Given the description of an element on the screen output the (x, y) to click on. 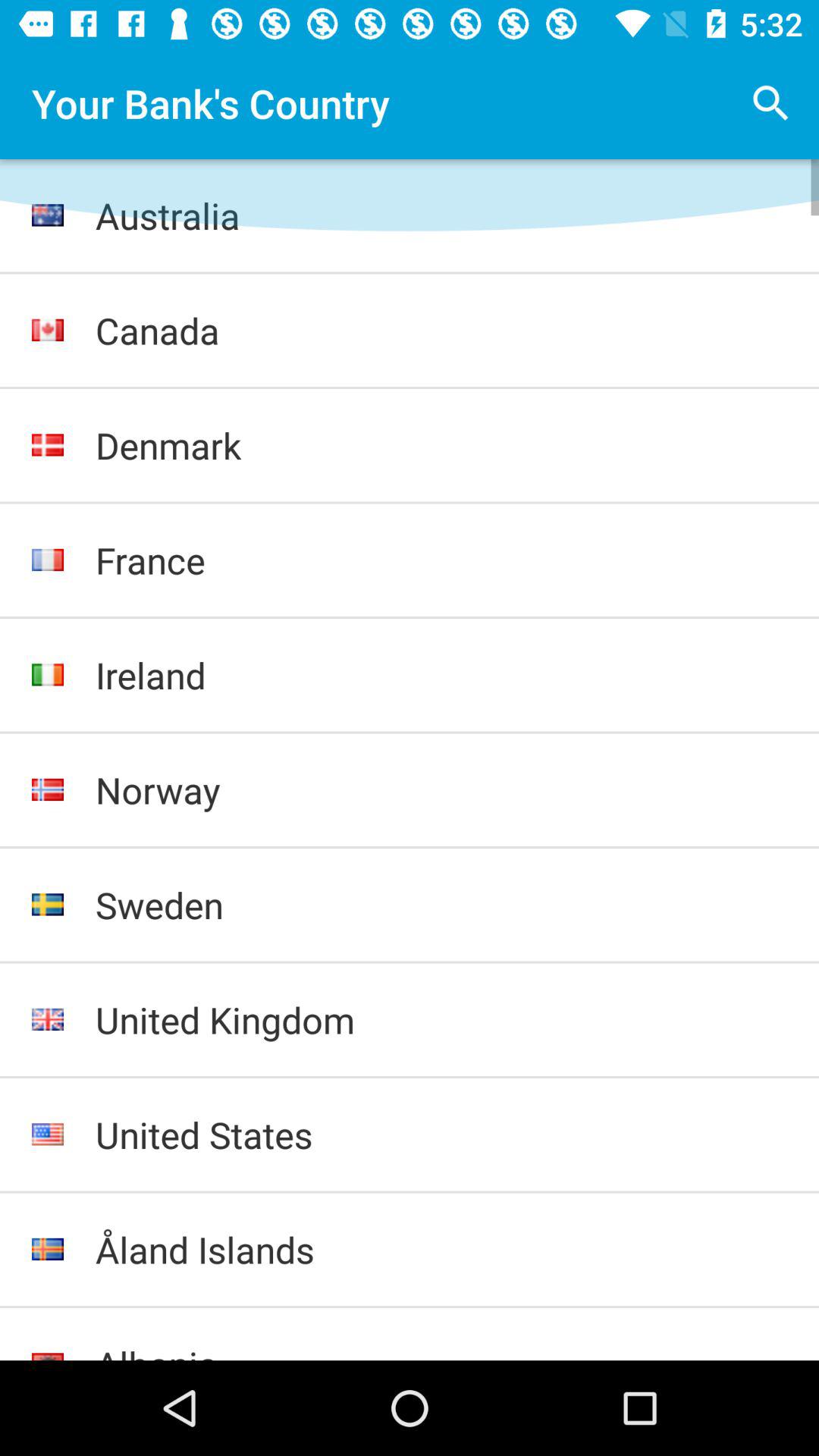
jump until united kingdom icon (441, 1019)
